Given the description of an element on the screen output the (x, y) to click on. 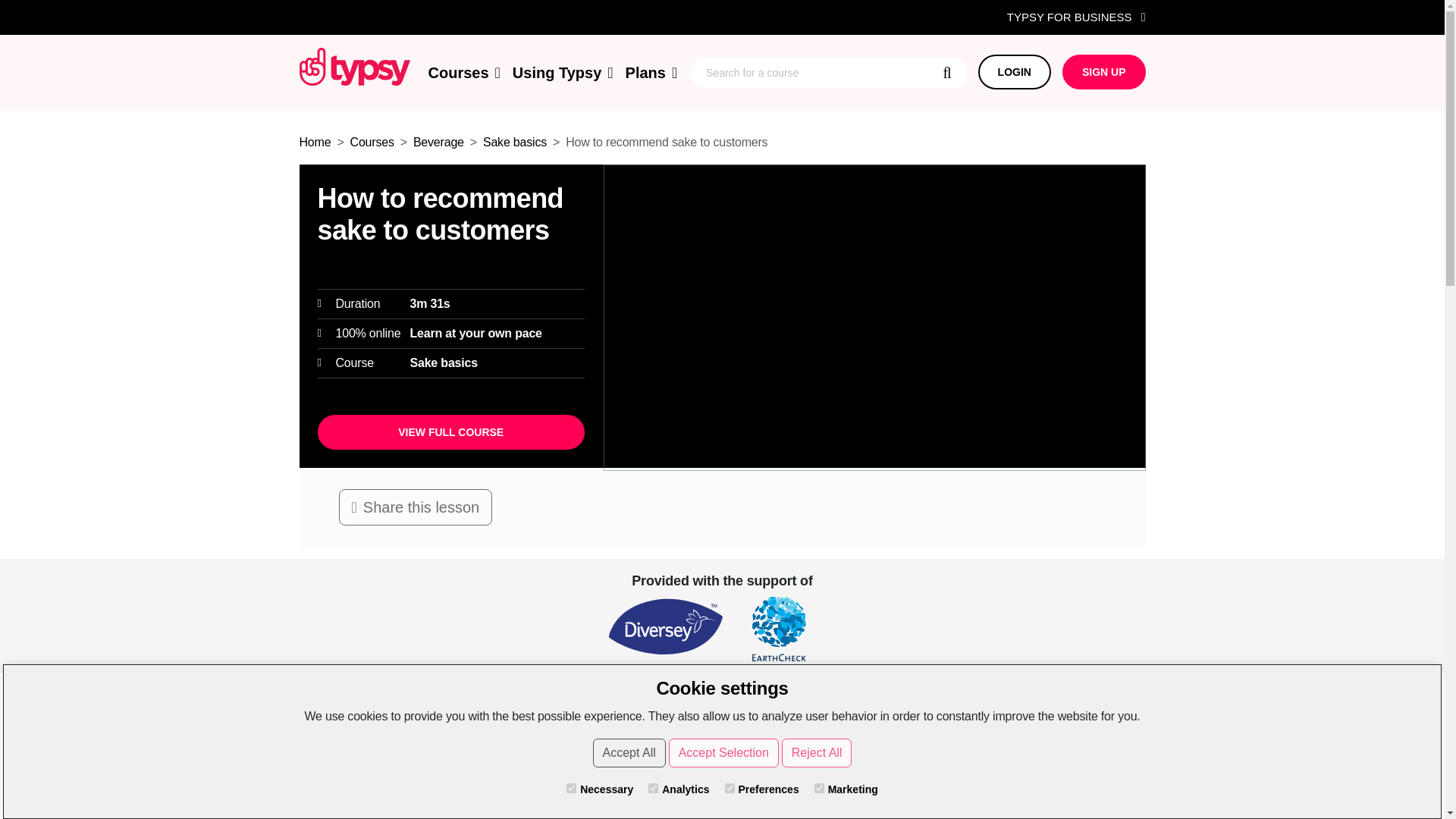
Preferences (730, 787)
Necessary (571, 787)
LOGIN (1014, 71)
Using Typsy (563, 72)
Courses (372, 141)
Marketing (818, 787)
SIGN UP (1103, 71)
Search for a course (828, 72)
Plans (652, 72)
Build: 20240701.2 - master (353, 65)
TYPSY FOR BUSINESS (1076, 16)
Home (314, 141)
Analytics (652, 787)
Courses (463, 72)
